Given the description of an element on the screen output the (x, y) to click on. 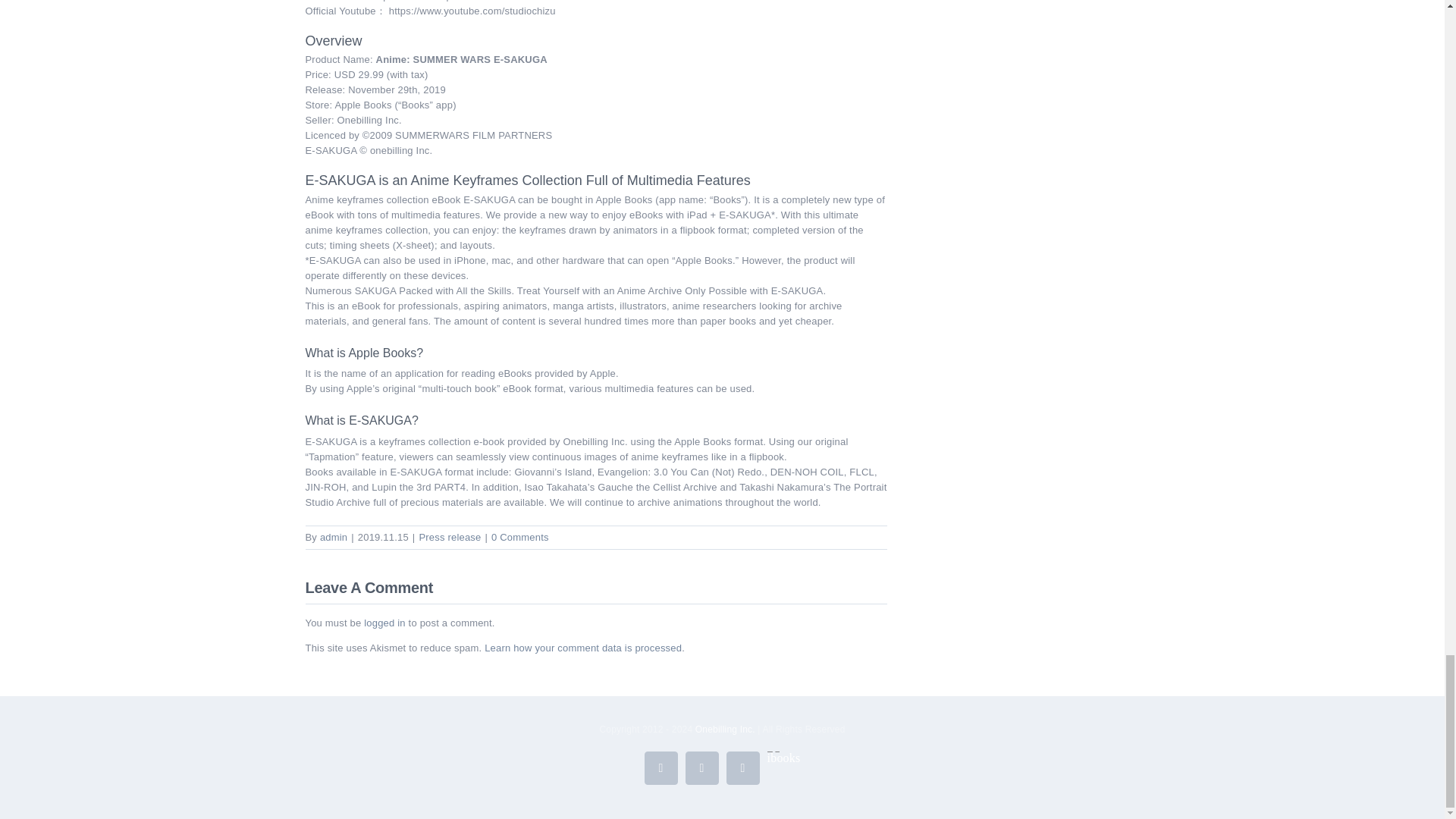
Posts by admin (333, 536)
